Given the description of an element on the screen output the (x, y) to click on. 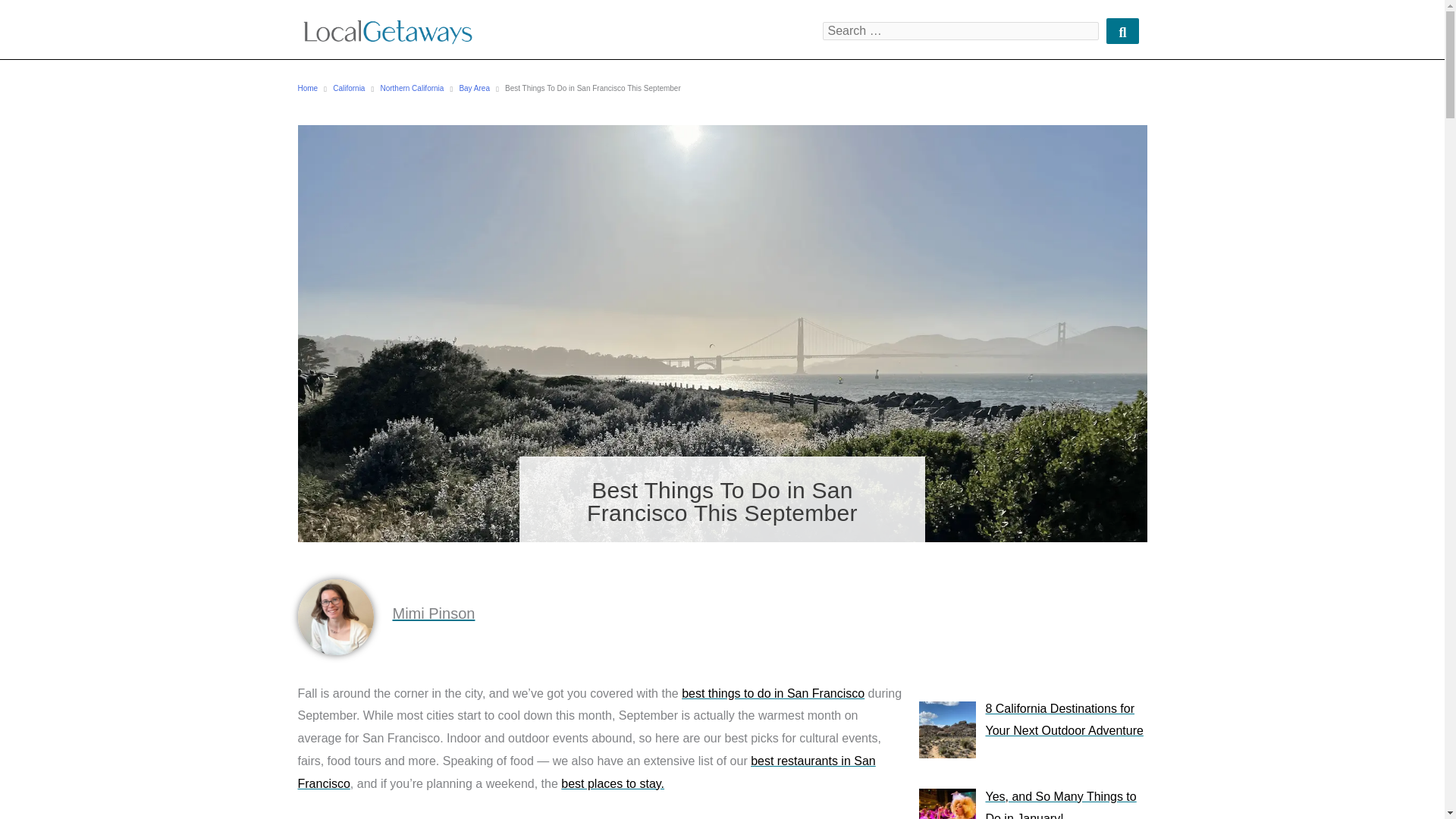
Home (307, 88)
Bay Area (473, 88)
Northern California (412, 88)
California (349, 88)
